Given the description of an element on the screen output the (x, y) to click on. 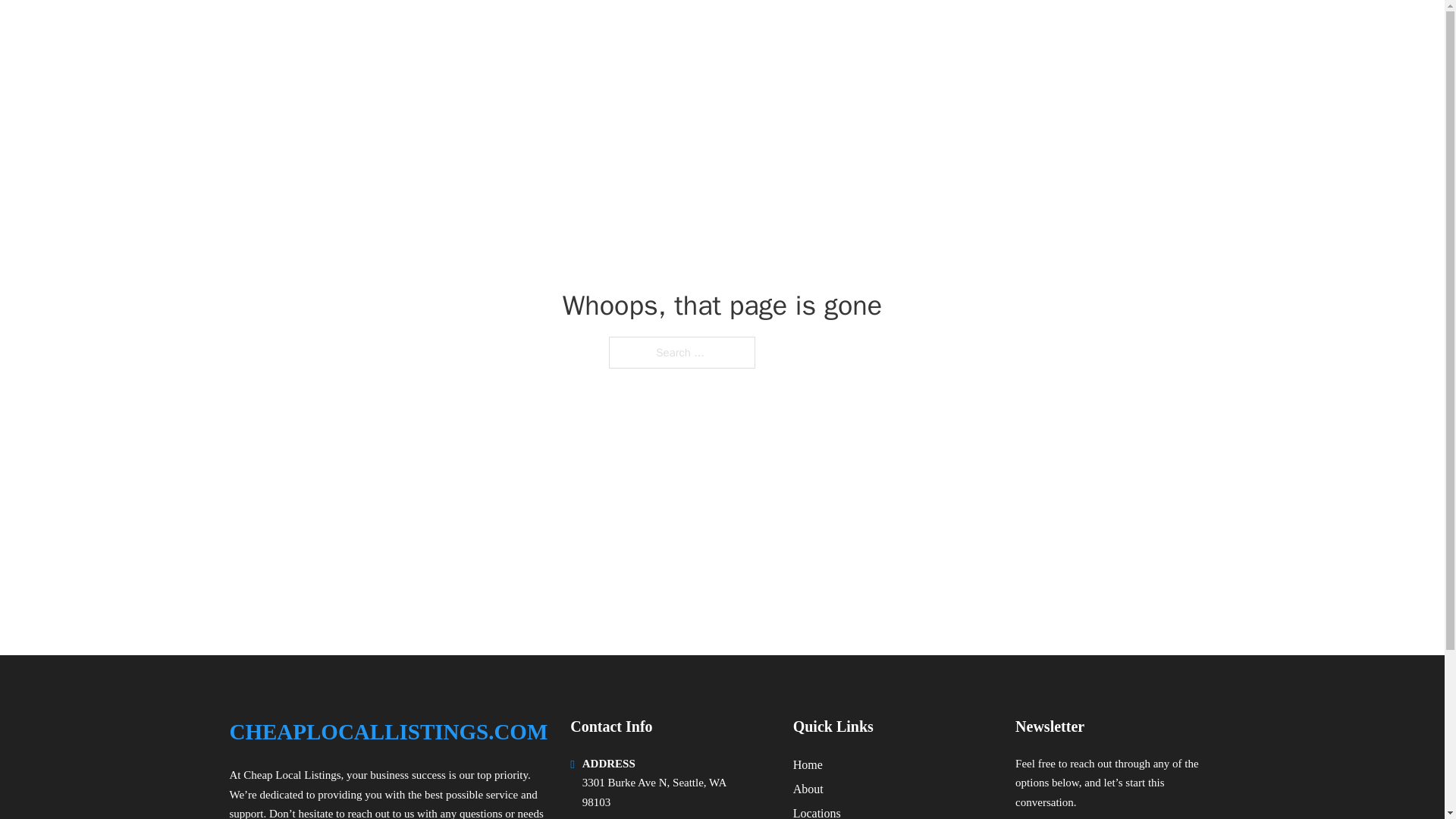
Locations (817, 811)
HOME (1025, 31)
CHEAPLOCALLISTINGS.COM (387, 732)
CHEAPLOCALLISTINGS.COM (403, 31)
About (808, 788)
LOCATIONS (1098, 31)
Home (807, 764)
